Given the description of an element on the screen output the (x, y) to click on. 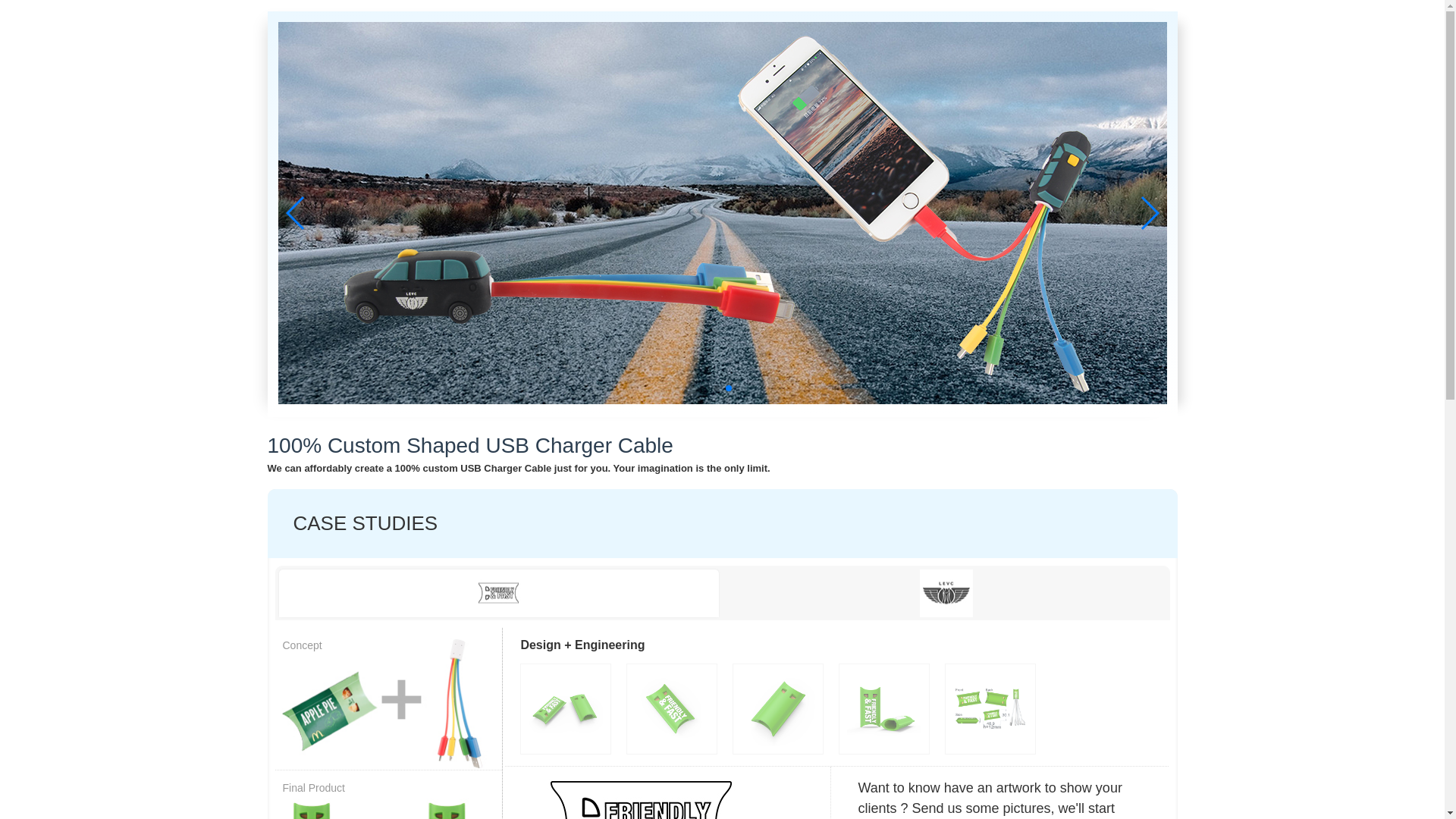
Custom PVC USB Charger Cable (498, 592)
Custom Car Shape PVC USB Charger Cable (945, 592)
Custom PVC USB Charger Cable (641, 792)
Custom PVC USB Charger Cable (387, 702)
PVC-CABLE (722, 212)
Custom PVC USB Charger Cable (387, 802)
